Given the description of an element on the screen output the (x, y) to click on. 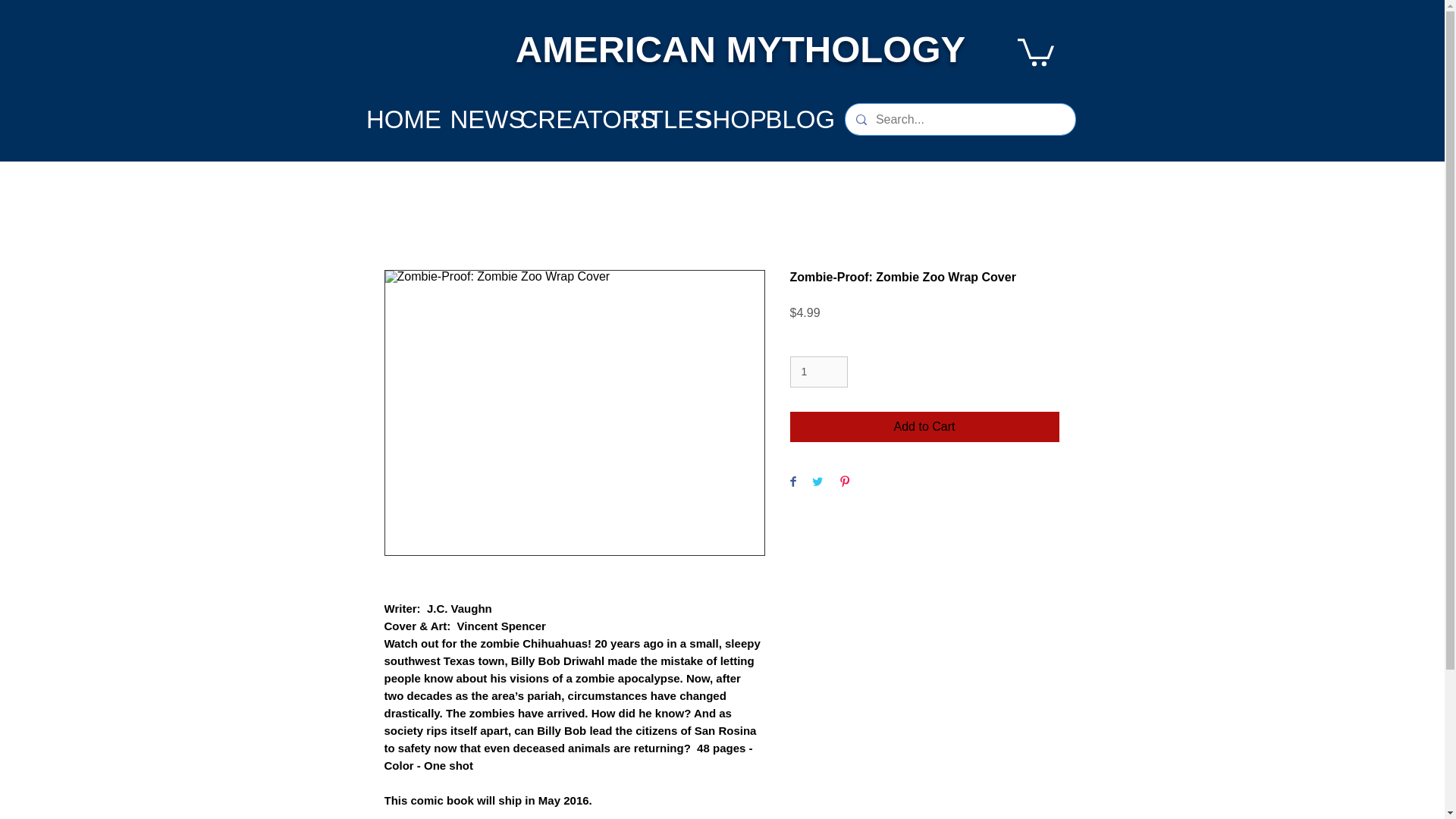
HOME (403, 119)
BLOG (800, 119)
SHOP (731, 119)
CREATORS (587, 119)
1 (818, 371)
NEWS (487, 119)
Add to Cart (924, 426)
TITLES (668, 119)
